Given the description of an element on the screen output the (x, y) to click on. 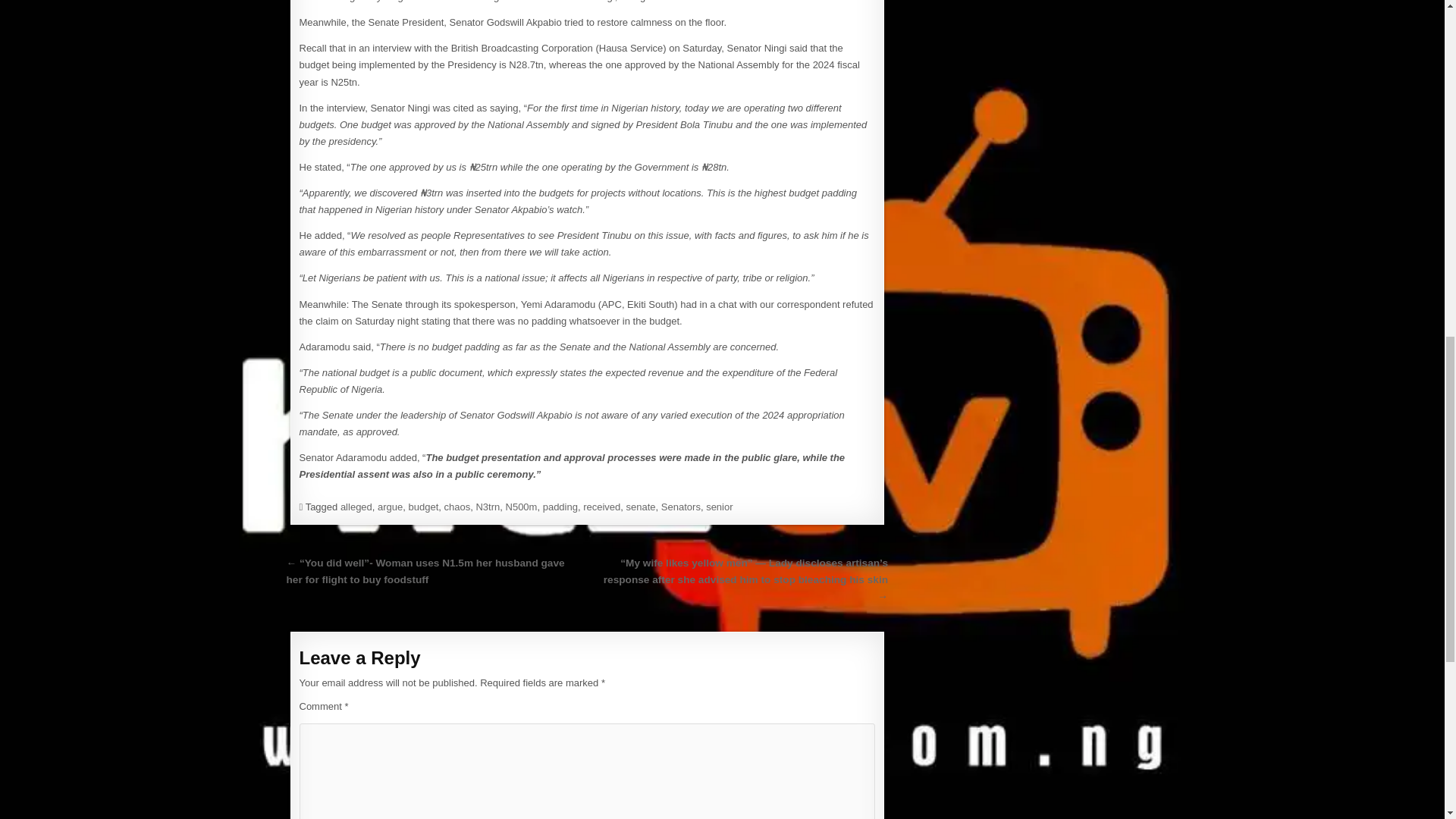
senior (719, 506)
Senators (680, 506)
N3trn (487, 506)
padding (560, 506)
N500m (521, 506)
chaos (457, 506)
argue (390, 506)
alleged (356, 506)
budget (424, 506)
received (601, 506)
